Given the description of an element on the screen output the (x, y) to click on. 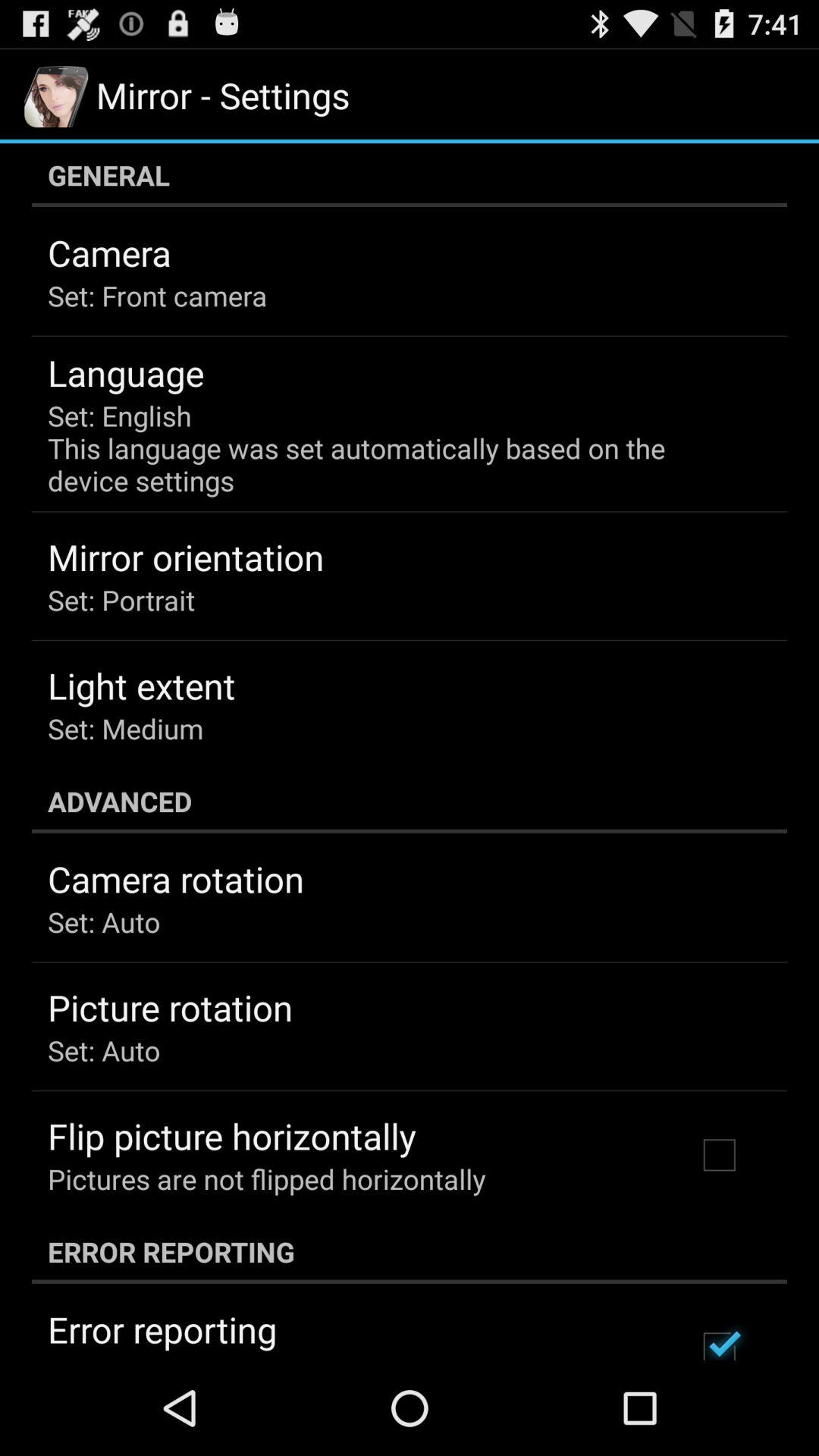
flip to the picture rotation item (169, 1007)
